Given the description of an element on the screen output the (x, y) to click on. 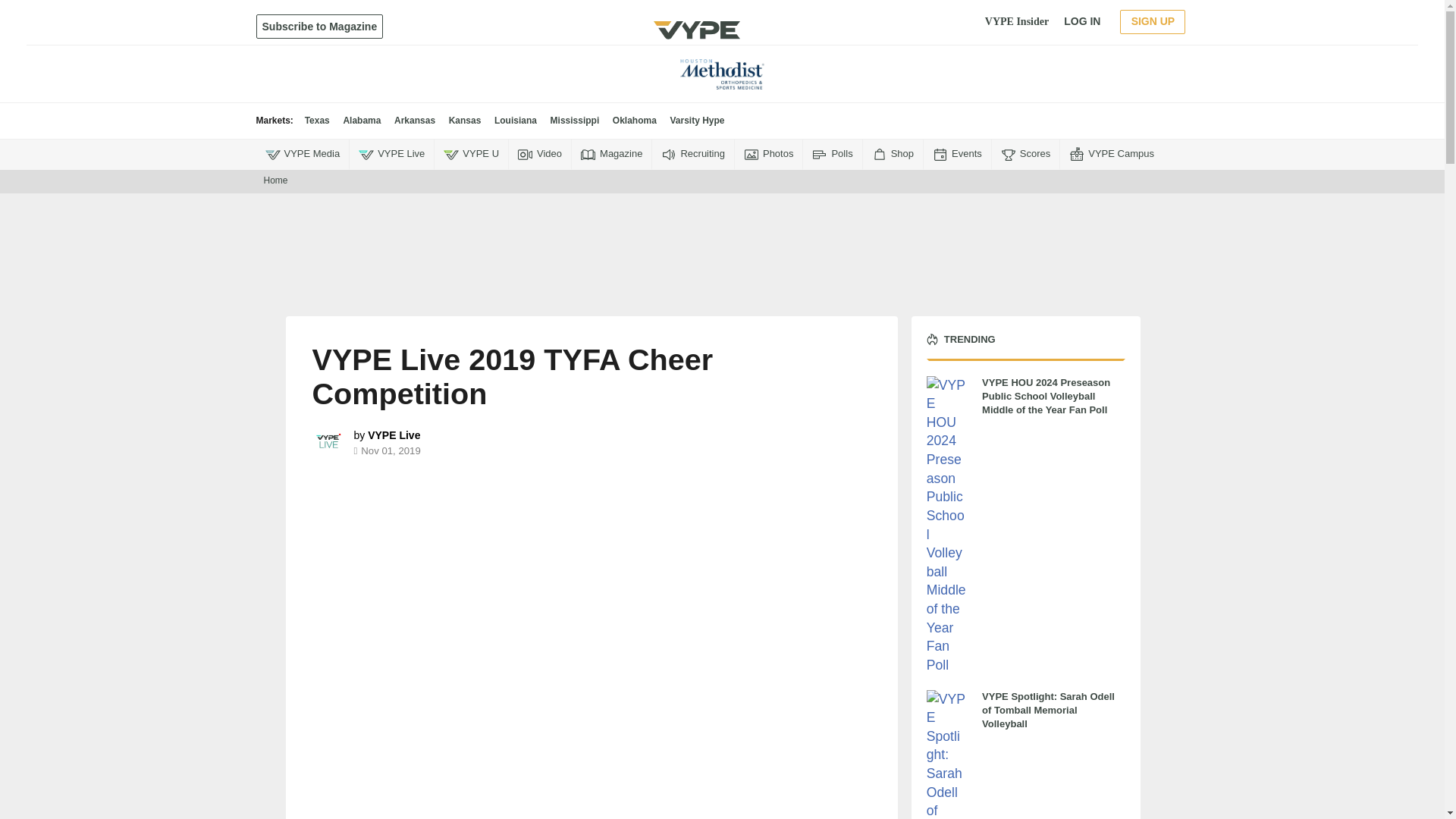
Louisiana (516, 120)
Alabama (361, 120)
Subscribe to Magazine (320, 26)
Texas (317, 120)
LOG IN (1082, 21)
SIGN UP (1152, 21)
Kansas (464, 120)
Arkansas (414, 120)
